Given the description of an element on the screen output the (x, y) to click on. 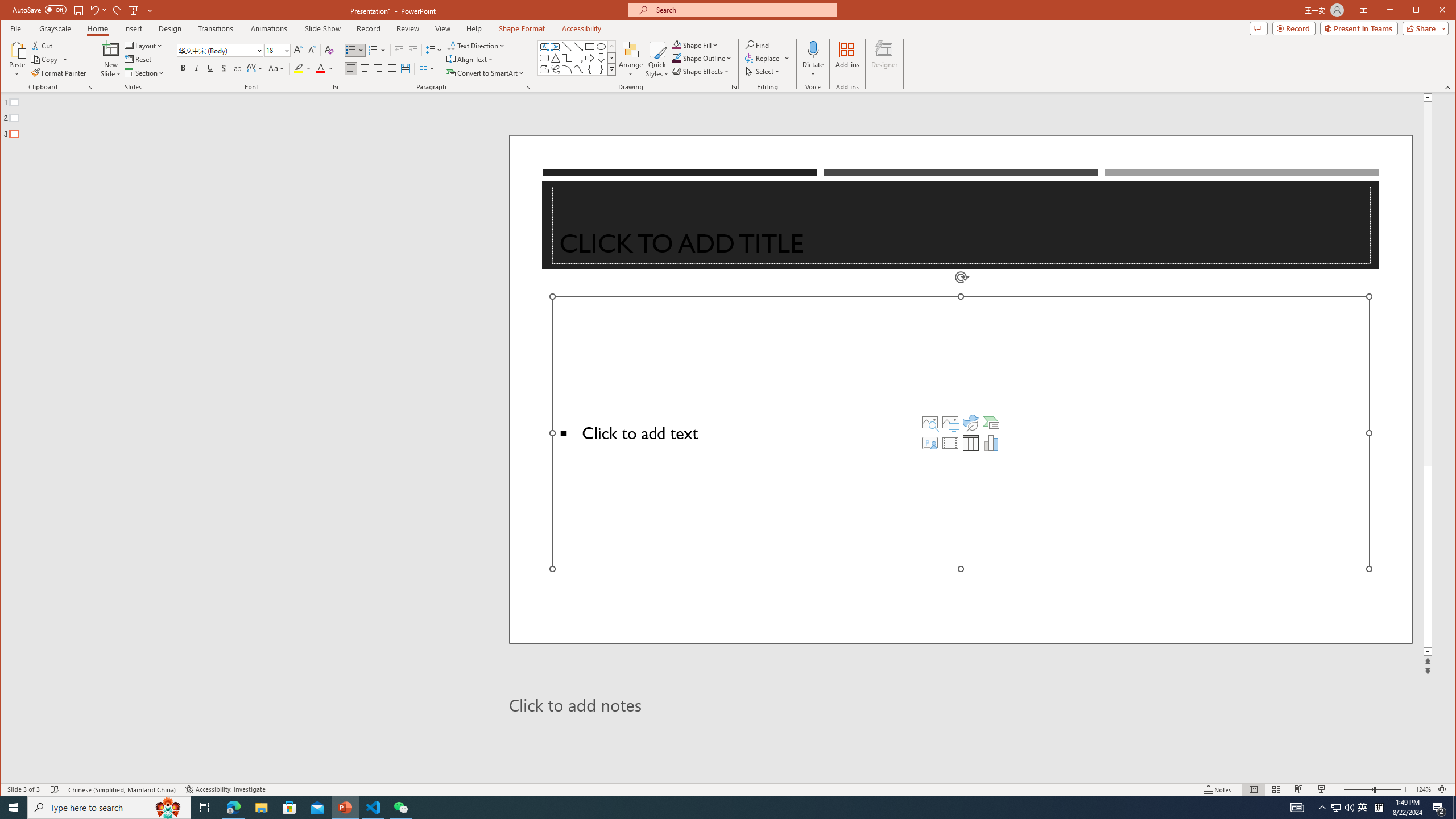
Insert an Icon (970, 422)
